Given the description of an element on the screen output the (x, y) to click on. 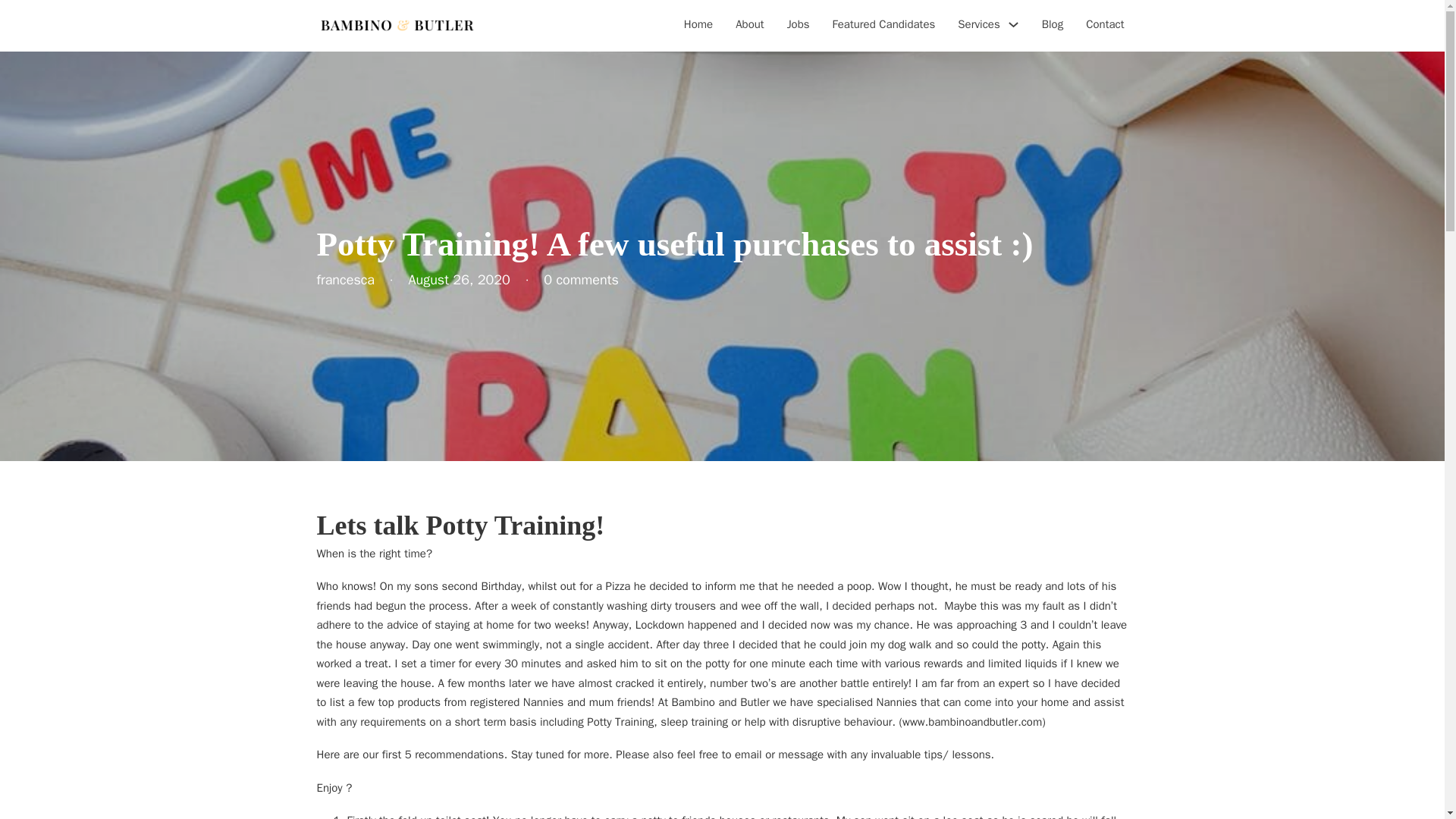
Blog (1052, 25)
About (748, 25)
www.bambinoandbutler.com (972, 721)
Home (698, 25)
Contact (1105, 25)
Services (978, 25)
Jobs (798, 25)
Featured Candidates (884, 25)
